Given the description of an element on the screen output the (x, y) to click on. 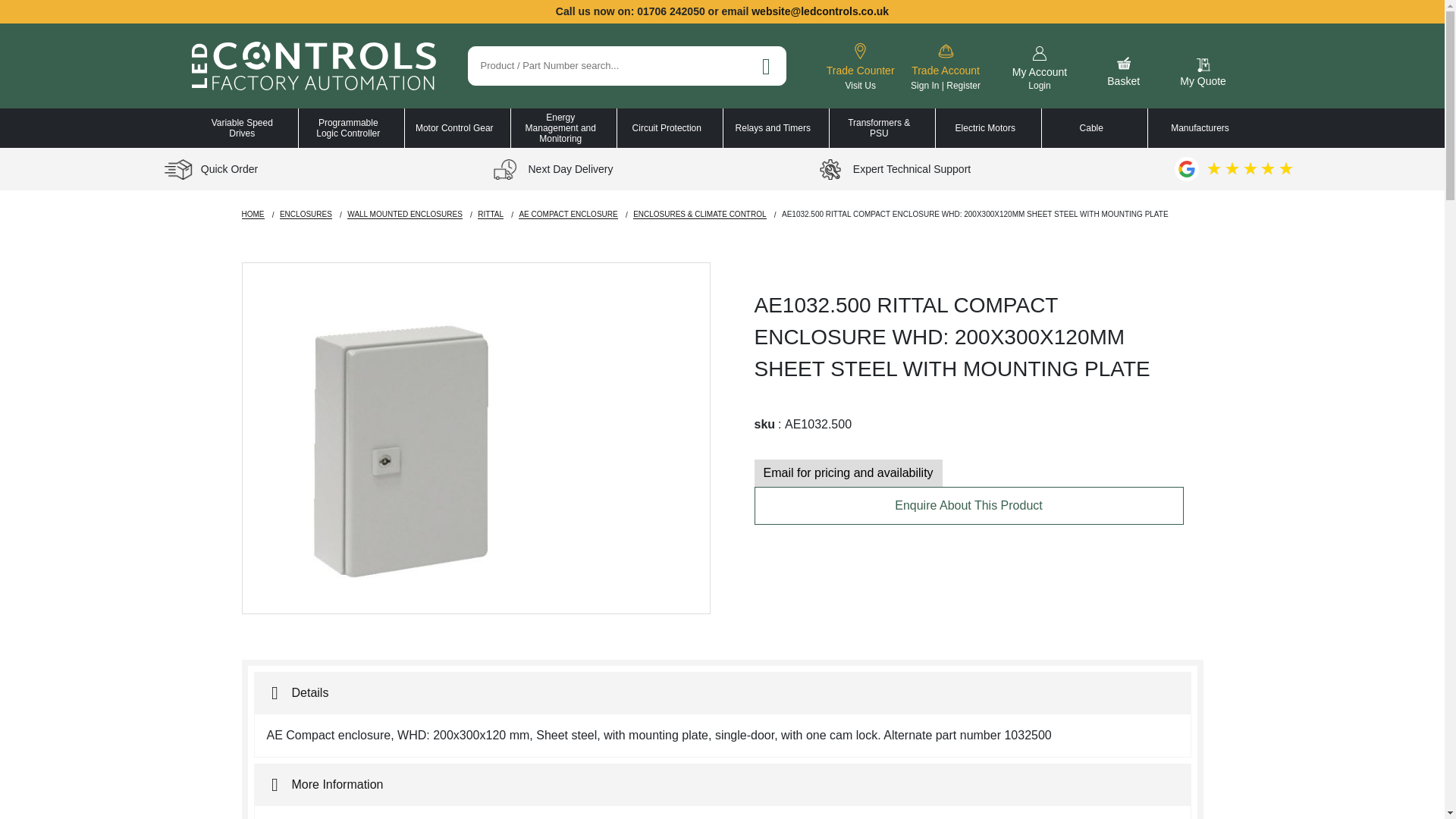
Energy Management and Monitoring (560, 128)
Register (962, 85)
Cable (1091, 127)
Circuit Protection (666, 127)
Variable Speed Drives (241, 127)
LED Controls Factory Automation (859, 65)
Sign up (312, 65)
Programmable Logic Controller (1039, 67)
Manufacturers (347, 127)
